Given the description of an element on the screen output the (x, y) to click on. 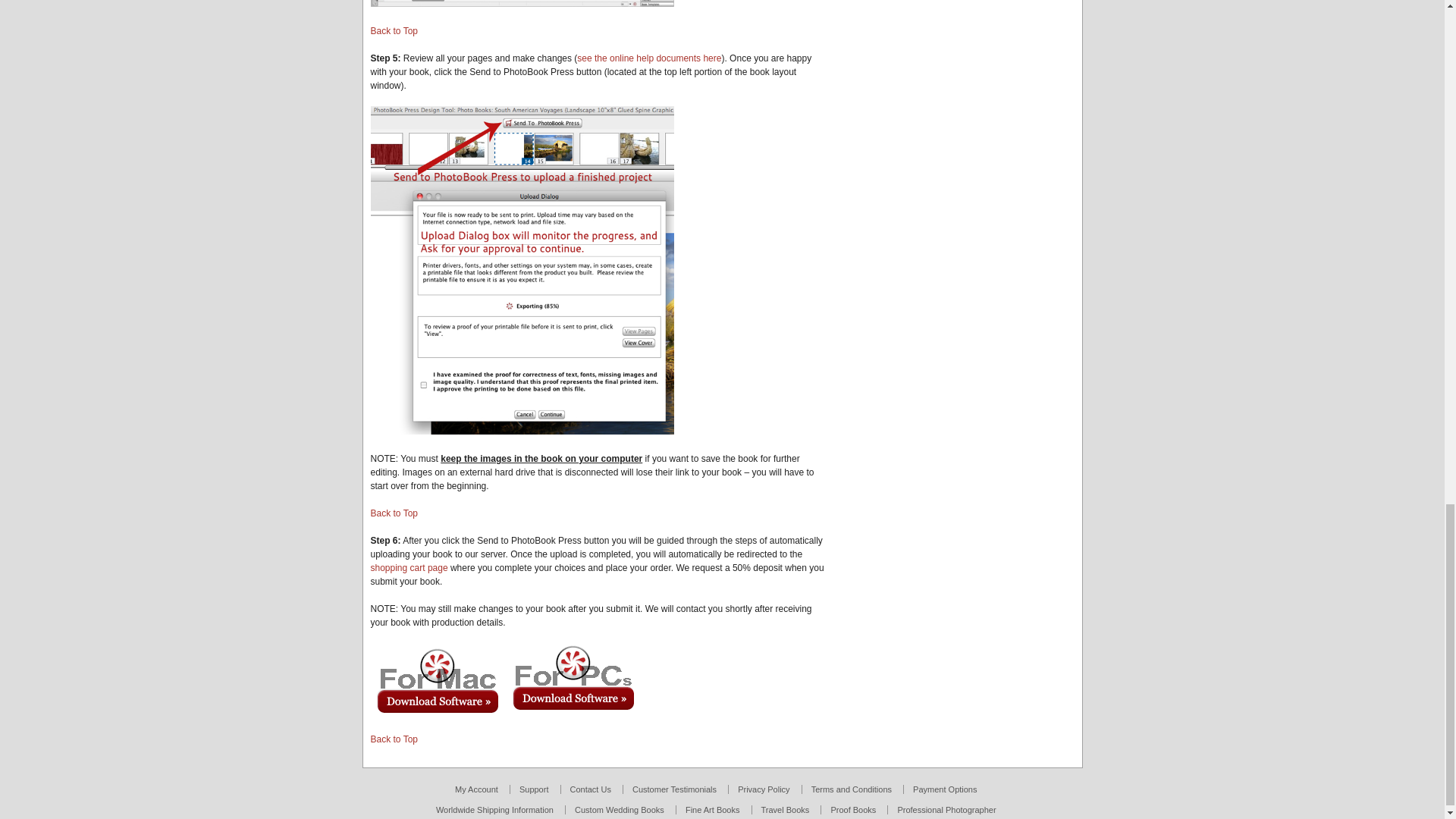
Contact Us (590, 788)
Back to Top (392, 30)
pc-digilabs-download (573, 678)
send-to-photobookpress (520, 270)
Back to Top (392, 738)
My Account (475, 788)
Back to Top (392, 512)
see the online help documents here (648, 58)
Support (533, 788)
mac-design-download (436, 681)
page-layout-features (520, 3)
shopping cart page (407, 567)
